Given the description of an element on the screen output the (x, y) to click on. 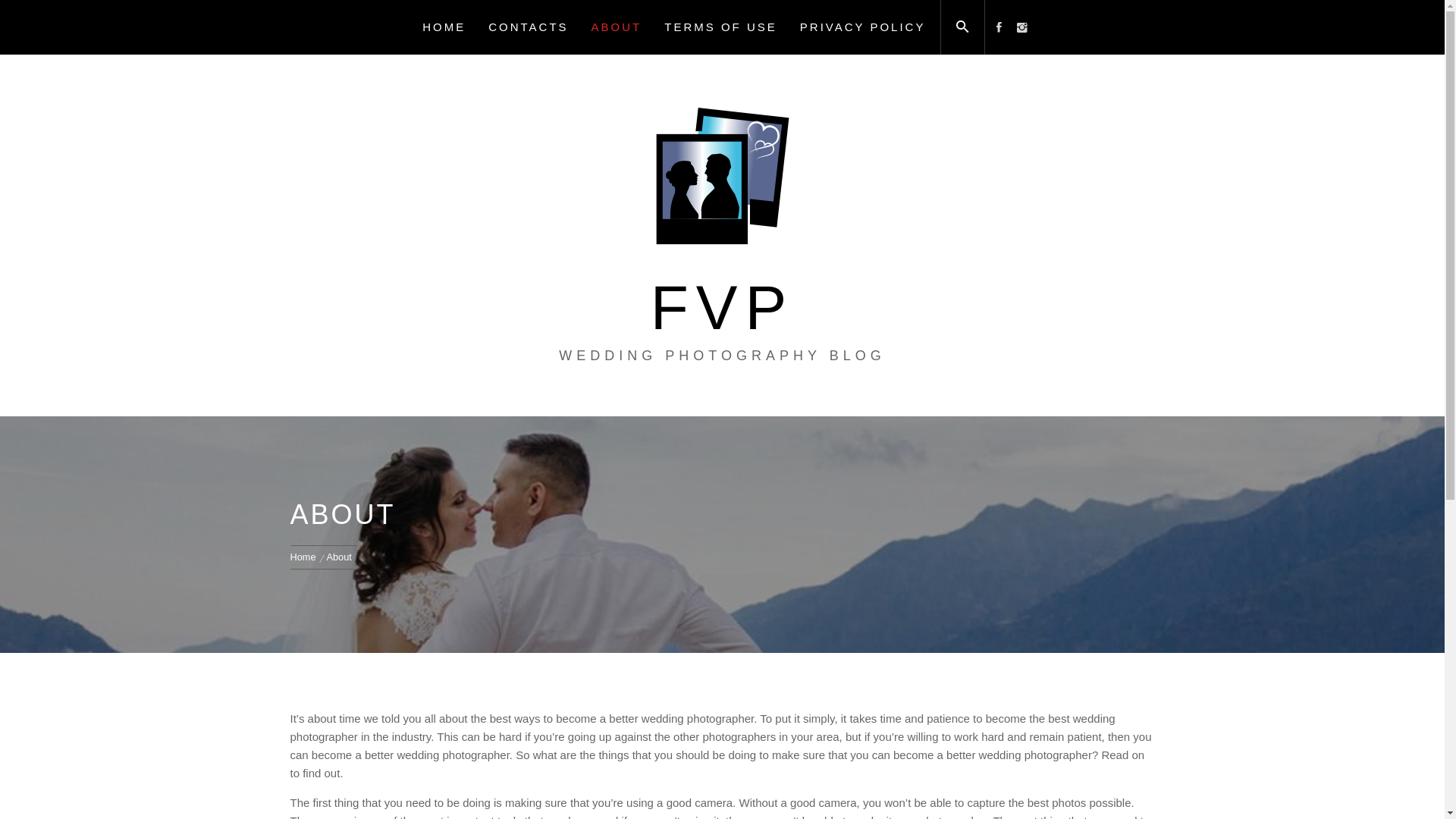
About Element type: text (339, 556)
TERMS OF USE Element type: text (720, 27)
Home Element type: text (304, 556)
HOME Element type: text (443, 27)
CONTACTS Element type: text (527, 27)
FVP Element type: text (721, 307)
Search Element type: text (797, 408)
ABOUT Element type: text (616, 27)
PRIVACY POLICY Element type: text (862, 27)
